Given the description of an element on the screen output the (x, y) to click on. 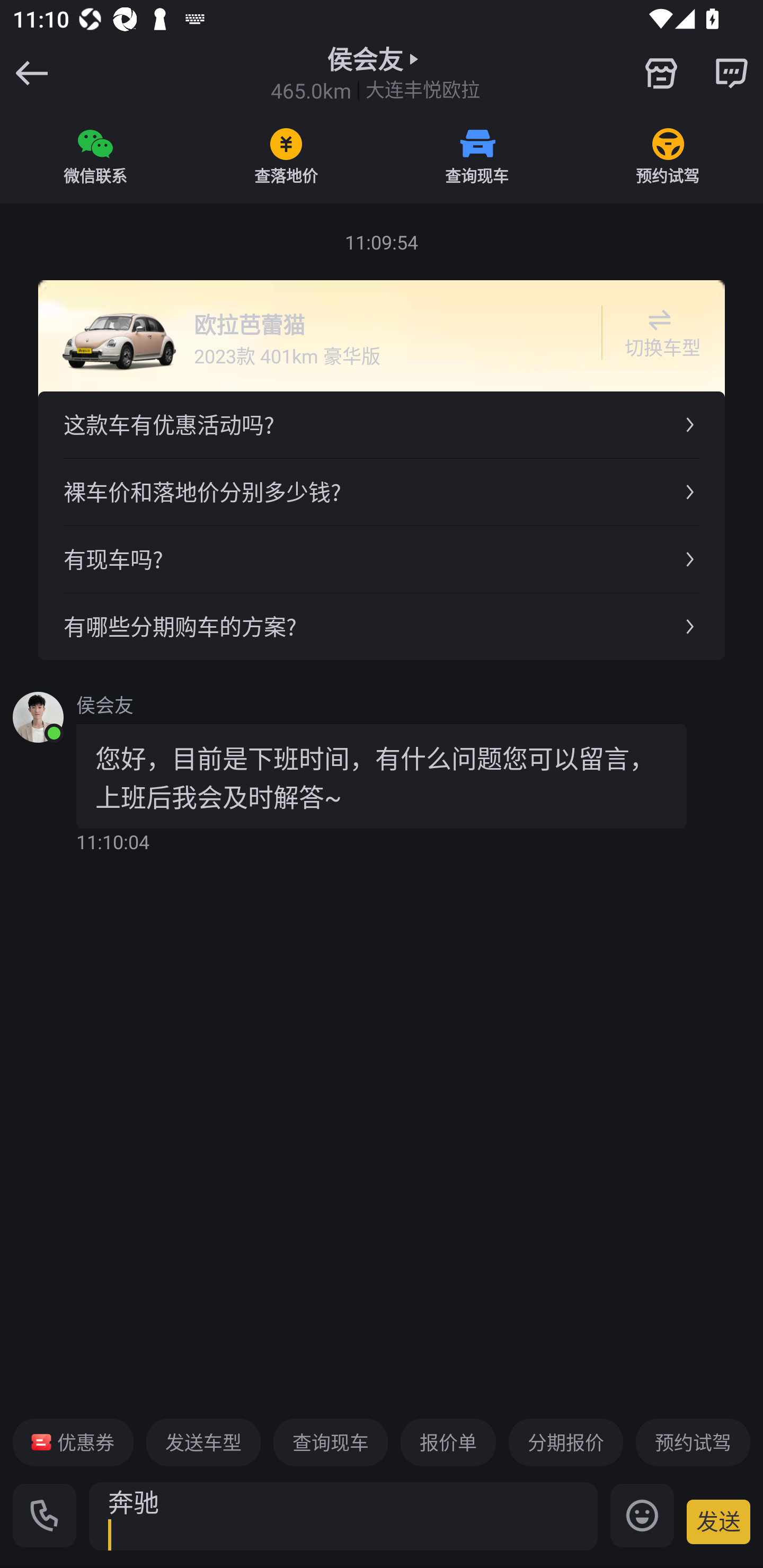
侯会友 465.0km 大连丰悦欧拉 (374, 73)
 (730, 72)
 (661, 73)
微信联系 (95, 155)
查落地价 (285, 155)
查询现车 (476, 155)
预约试驾 (667, 155)
切换车型 (659, 332)
这款车有优惠活动吗? (381, 424)
裸车价和落地价分别多少钱? (381, 492)
有现车吗? (381, 558)
有哪些分期购车的方案? (381, 626)
您好，目前是下班时间，有什么问题您可以留言，上班后我会及时解答~ (381, 775)
优惠券 (72, 1442)
发送车型 (203, 1442)
查询现车 (330, 1442)
报价单 (447, 1442)
分期报价 (565, 1442)
预约试驾 (692, 1442)
奔驰
 (343, 1515)
发送 (718, 1521)
